Given the description of an element on the screen output the (x, y) to click on. 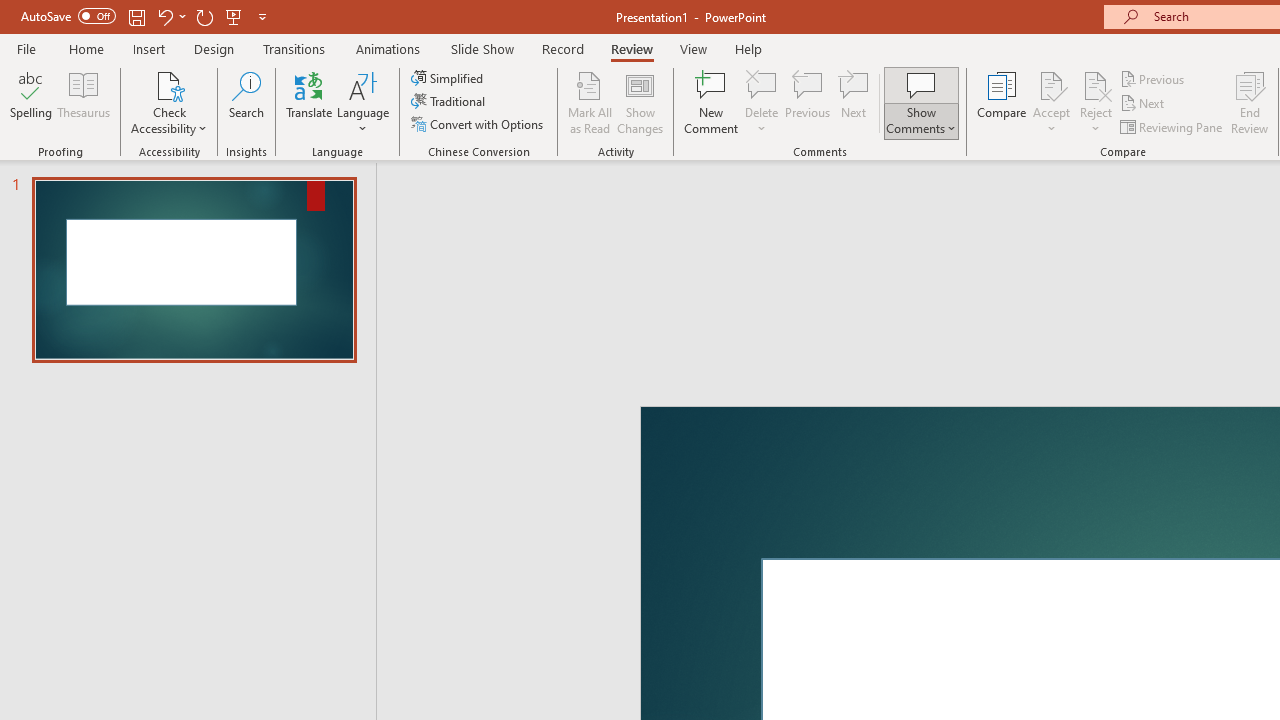
Show Comments (921, 102)
Accept Change (1051, 84)
Translate (309, 102)
Simplified (449, 78)
Compare (1002, 102)
Show Changes (639, 102)
Reject (1096, 102)
Reviewing Pane (1172, 126)
Thesaurus... (83, 102)
